Given the description of an element on the screen output the (x, y) to click on. 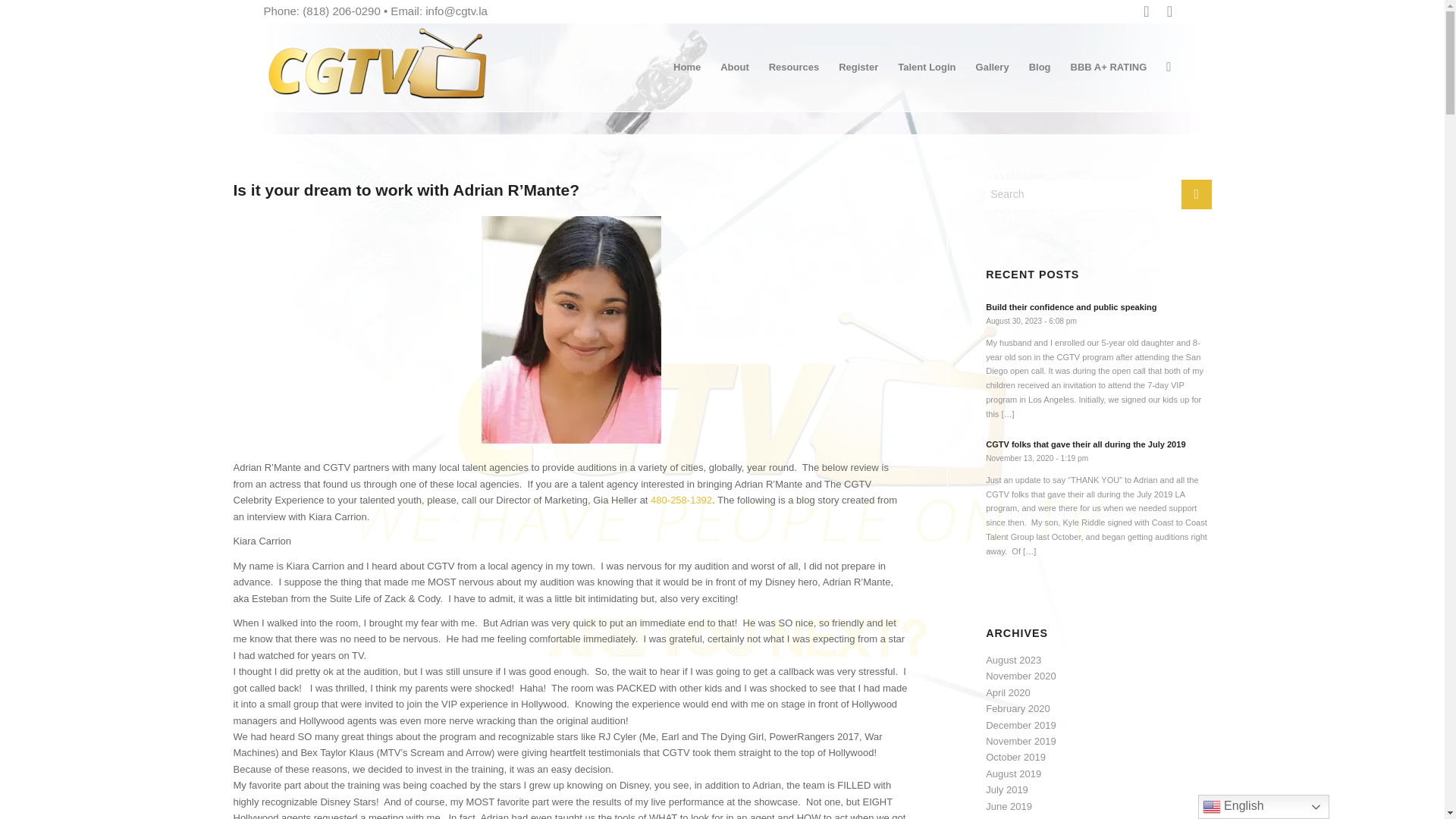
Instagram (1169, 11)
480-258-1392 (680, 500)
Facebook (1146, 11)
